Given the description of an element on the screen output the (x, y) to click on. 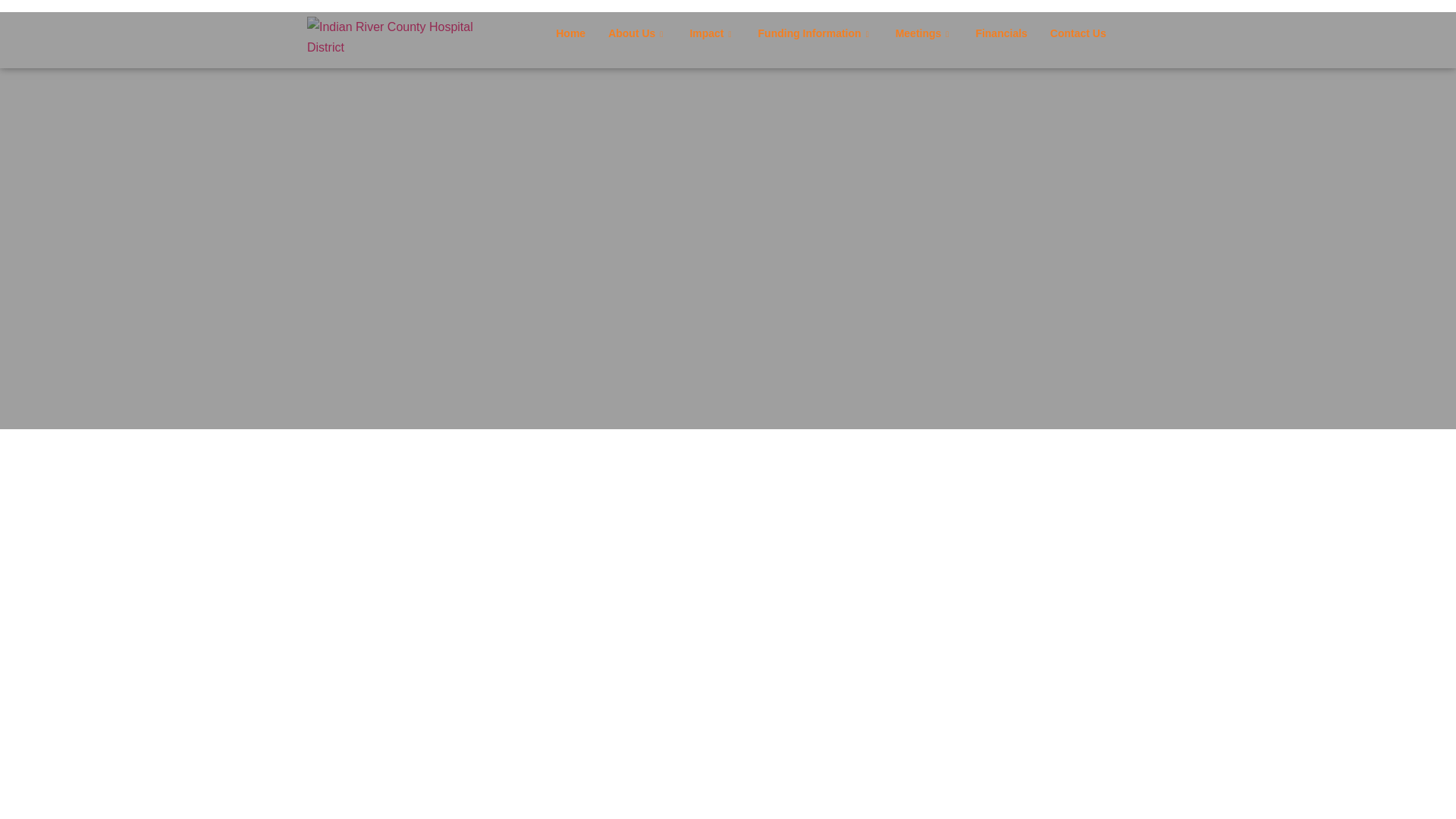
Contact Us (1078, 33)
Funding Information (814, 33)
Meetings (923, 33)
About Us (637, 33)
Impact (711, 33)
Financials (1000, 33)
Home (570, 33)
